Given the description of an element on the screen output the (x, y) to click on. 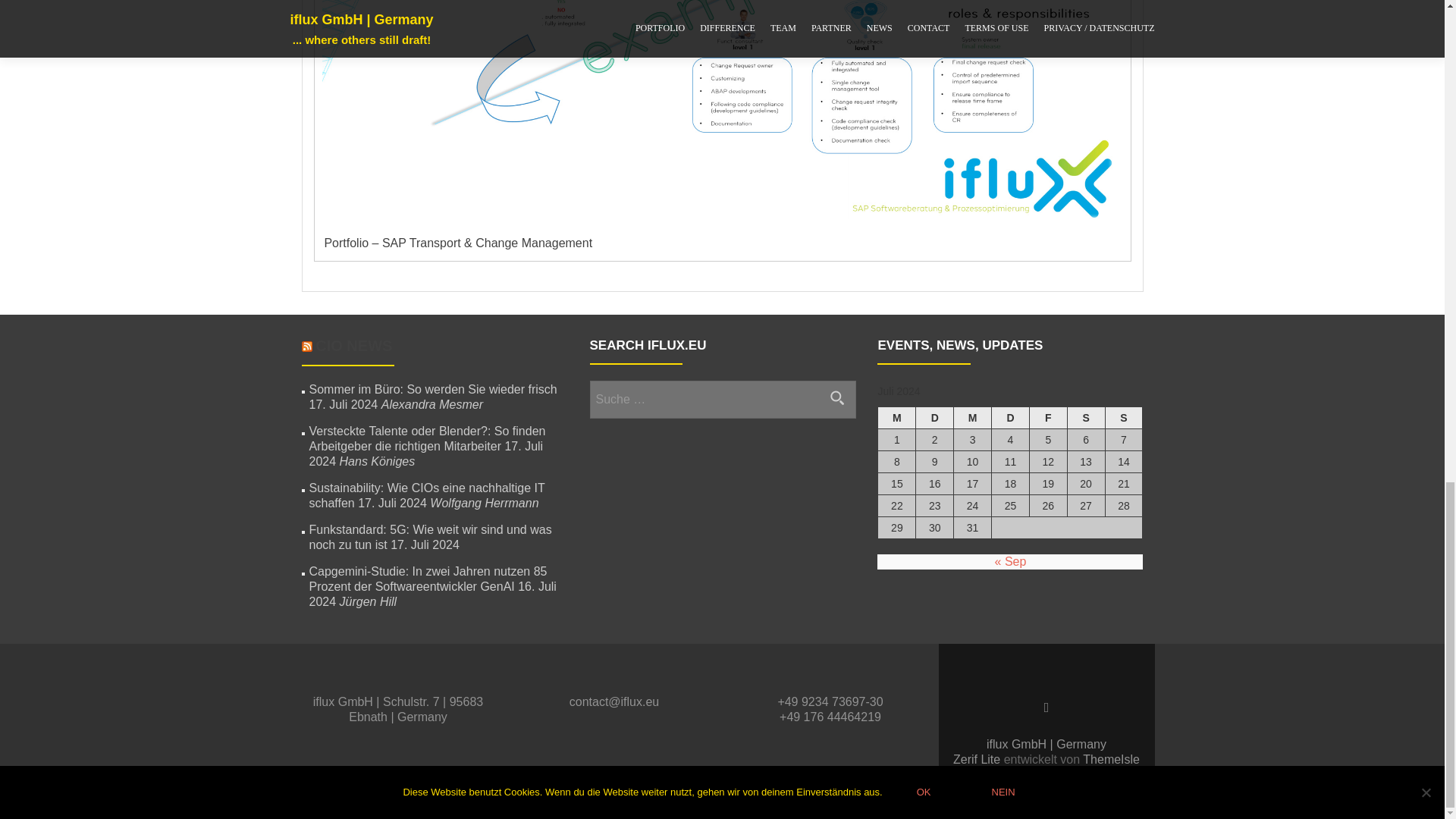
Freitag (1048, 417)
Samstag (1086, 417)
ThemeIsle (1111, 758)
CIO NEWS (353, 345)
Montag (896, 417)
Zerif Lite (978, 758)
Suche (836, 397)
Funkstandard: 5G: Wie weit wir sind und was noch zu tun ist (429, 537)
Sustainability: Wie CIOs eine nachhaltige IT schaffen (426, 495)
Mittwoch (972, 417)
Donnerstag (1010, 417)
Suche (836, 397)
Dienstag (934, 417)
